Given the description of an element on the screen output the (x, y) to click on. 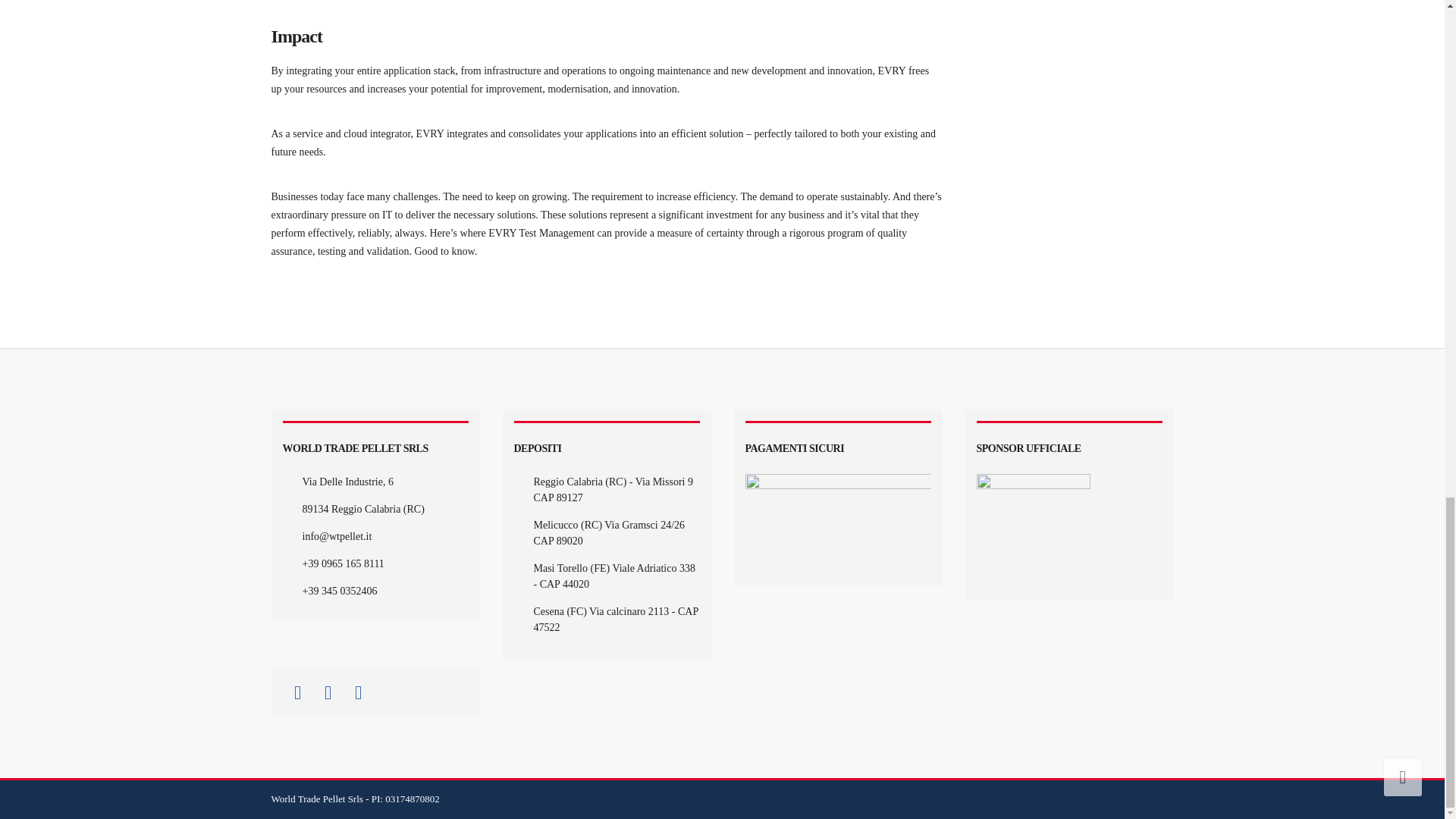
pagamenti sicuri (837, 523)
sponsor ufficiale (1033, 531)
World Trade Pellet Srls (318, 798)
